Given the description of an element on the screen output the (x, y) to click on. 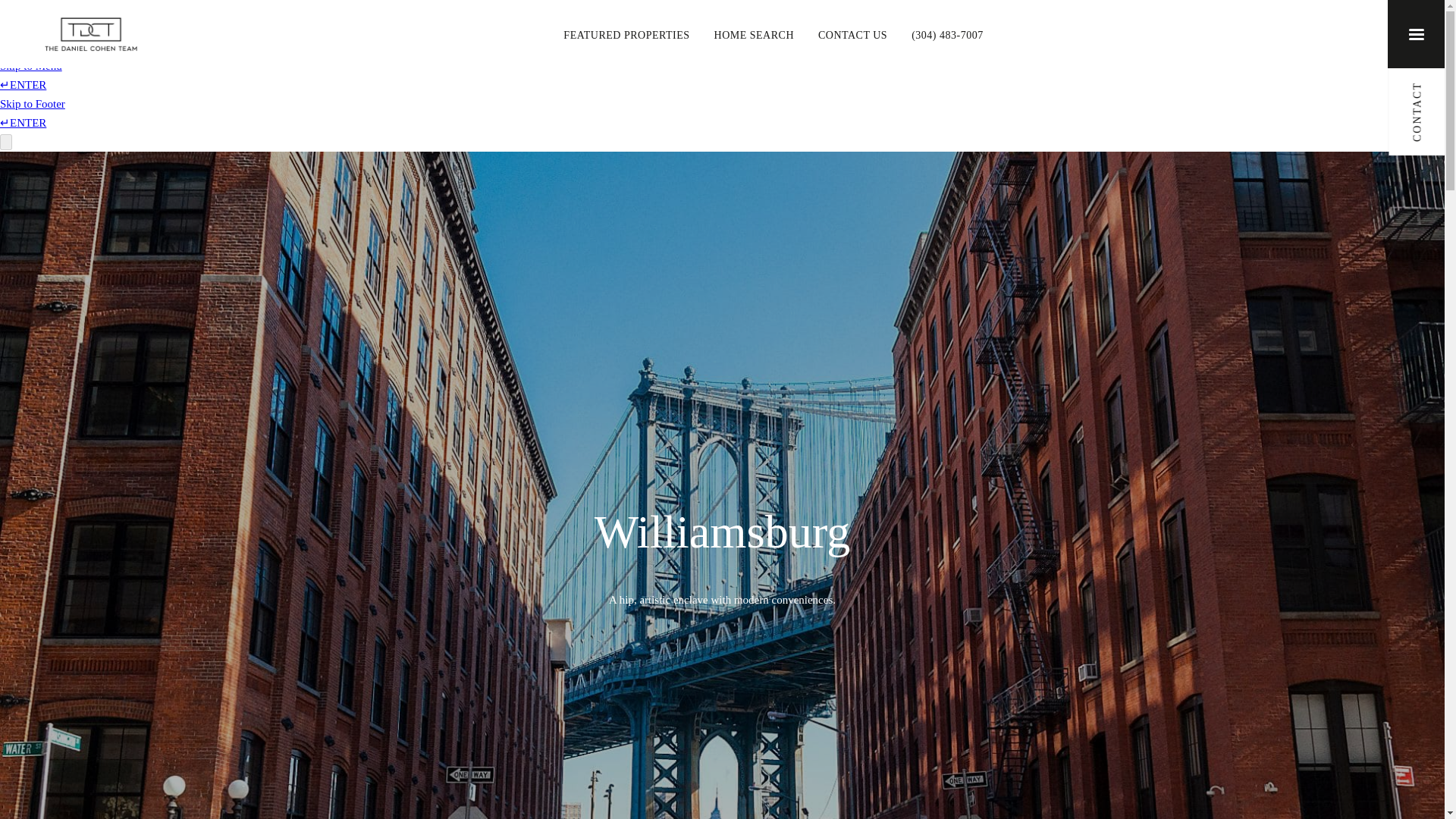
FEATURED PROPERTIES (625, 33)
CONTACT US (852, 33)
HOME SEARCH (753, 33)
